Given the description of an element on the screen output the (x, y) to click on. 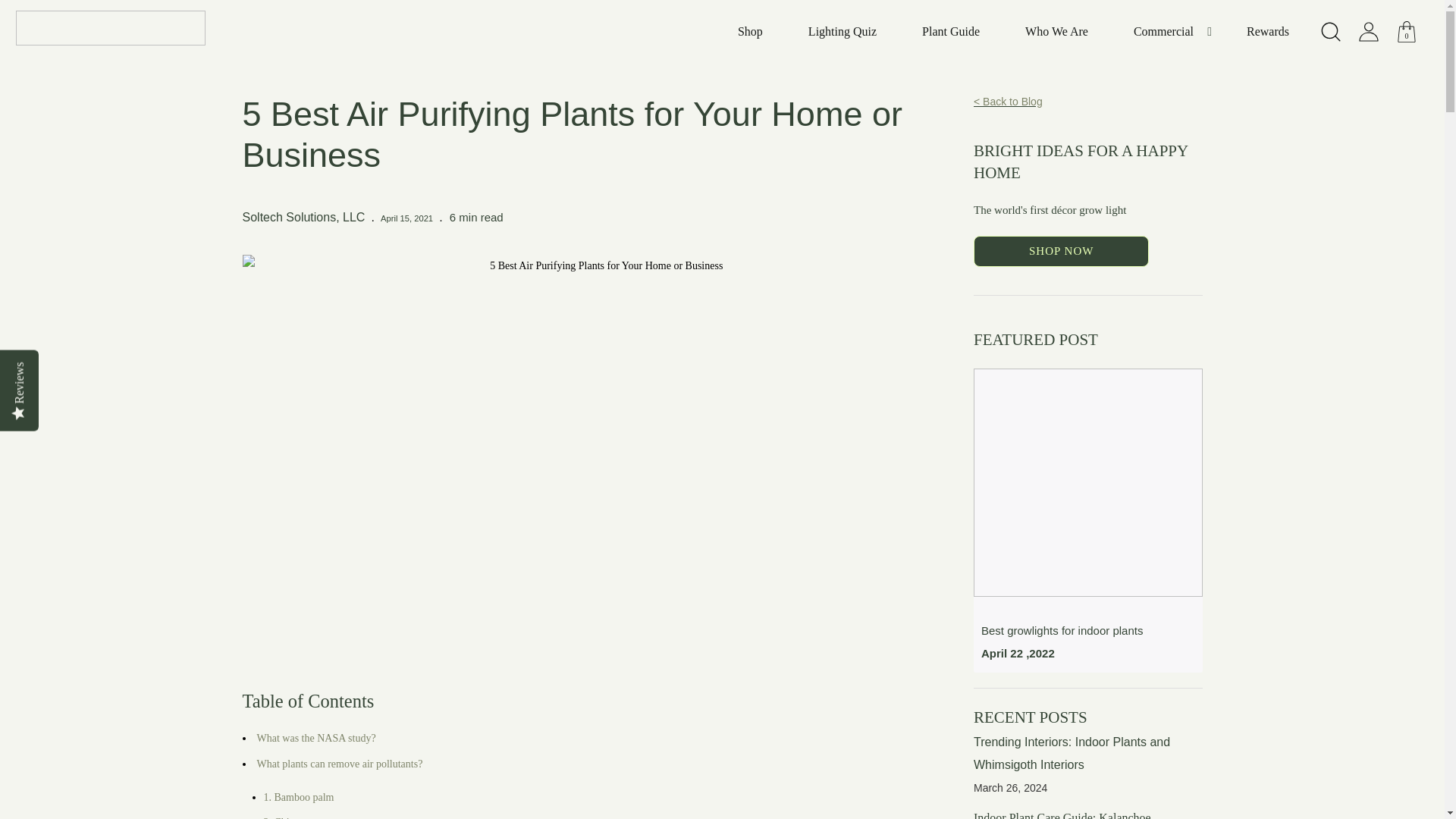
Soltech (109, 31)
Trending Interiors: Indoor Plants and Whimsigoth Interiors (1072, 753)
Shop (750, 31)
Indoor Plant Care Guide: Kalanchoe (1062, 815)
